Given the description of an element on the screen output the (x, y) to click on. 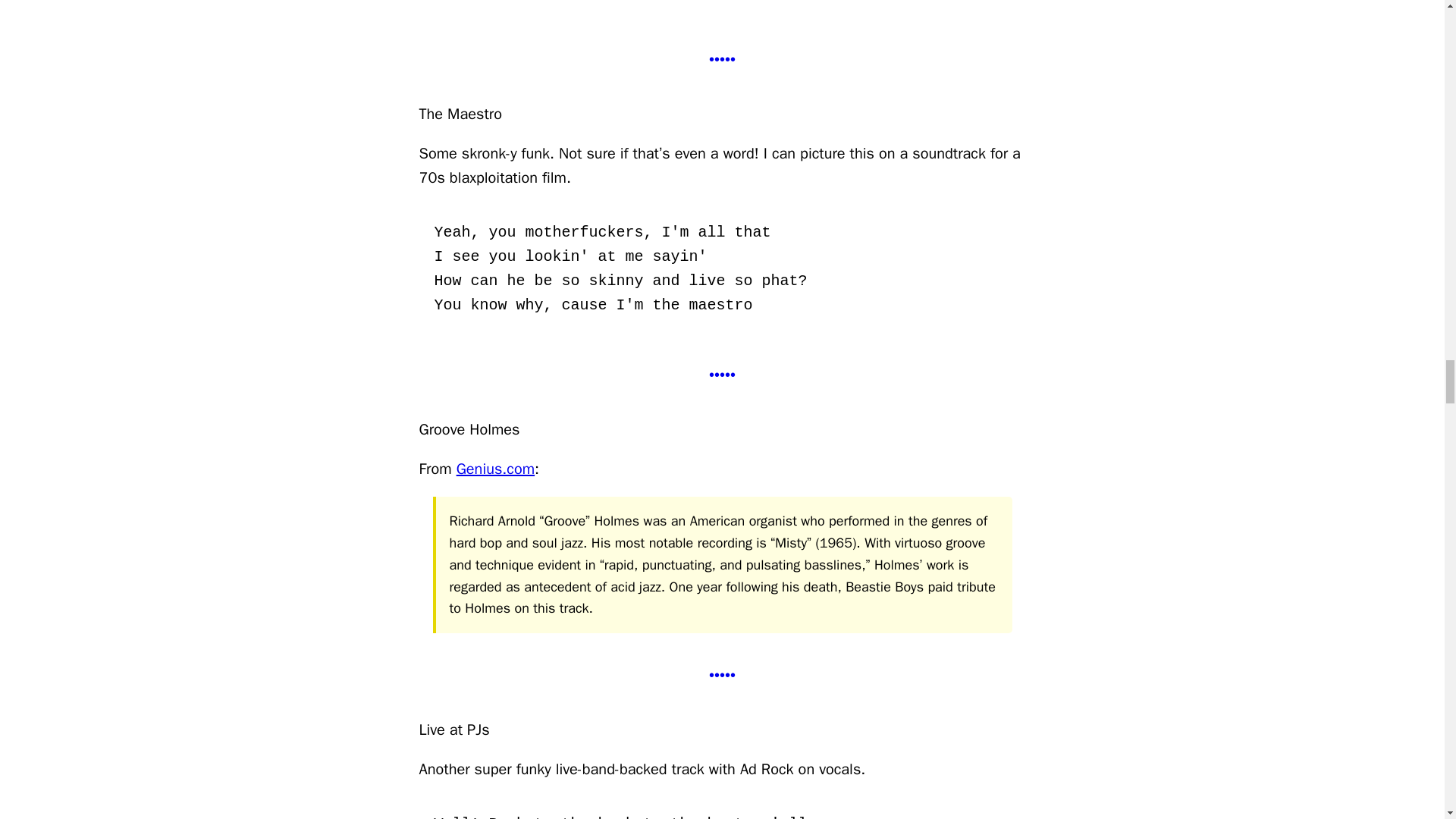
Genius.com (495, 468)
